Given the description of an element on the screen output the (x, y) to click on. 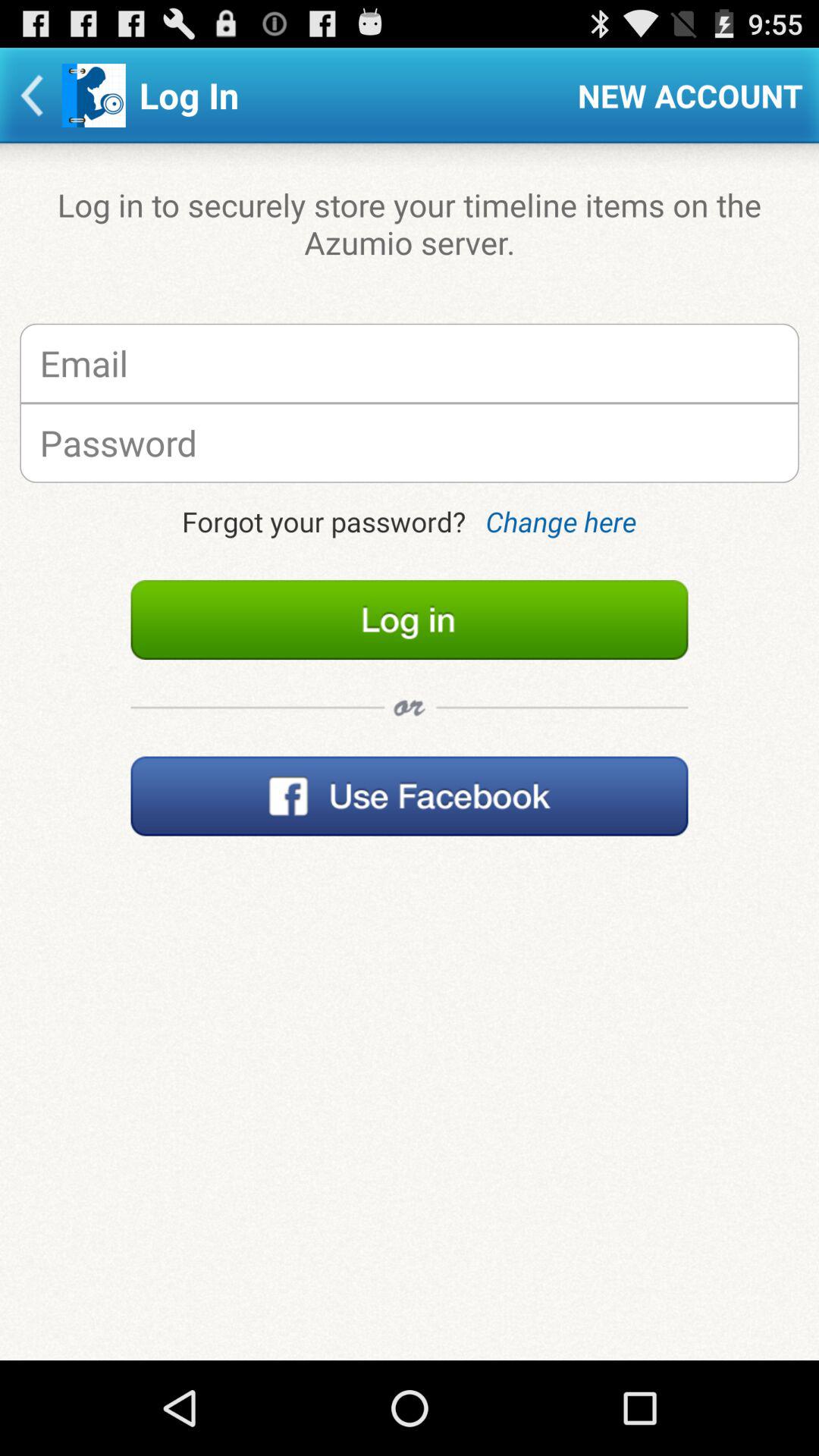
fill in the password (409, 442)
